Given the description of an element on the screen output the (x, y) to click on. 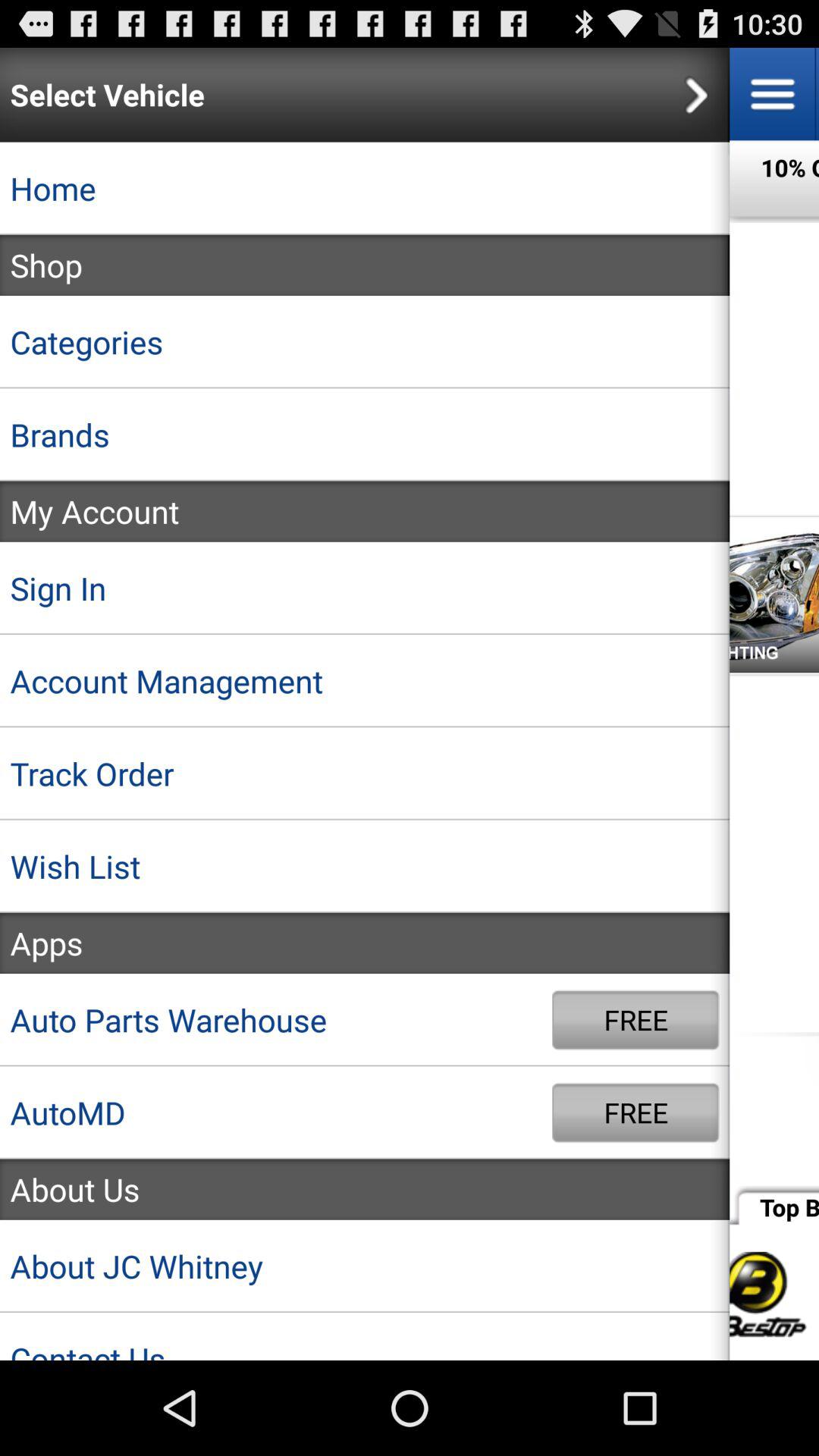
launch the automd (276, 1112)
